Given the description of an element on the screen output the (x, y) to click on. 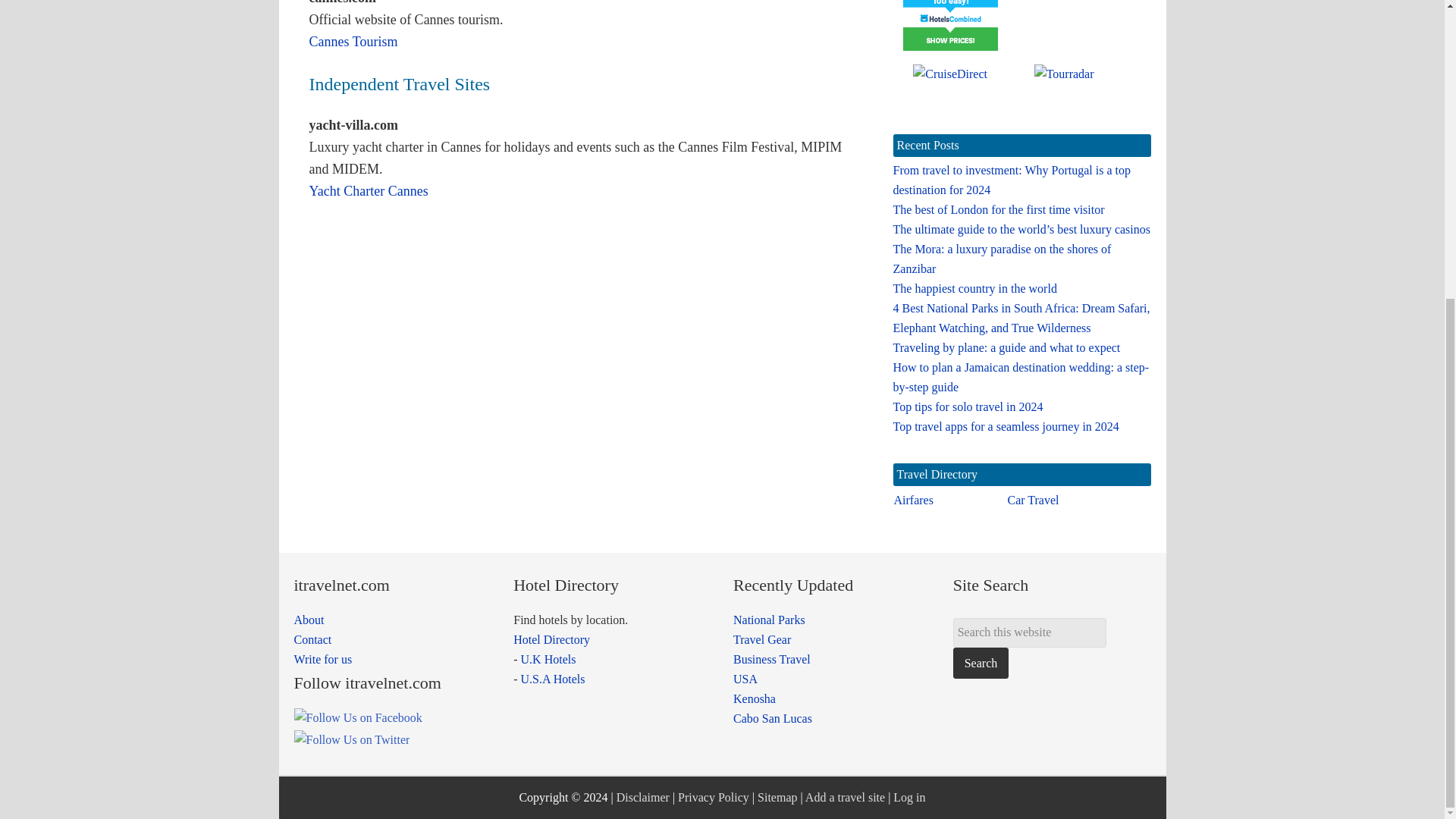
Cannes Tourism (352, 41)
Contact (312, 639)
Traveling by plane: a guide and what to expect (1007, 347)
About (309, 619)
Follow Us on Twitter (352, 739)
Car Travel (1032, 499)
Yacht Charter Cannes (368, 191)
Airfares (913, 499)
